Given the description of an element on the screen output the (x, y) to click on. 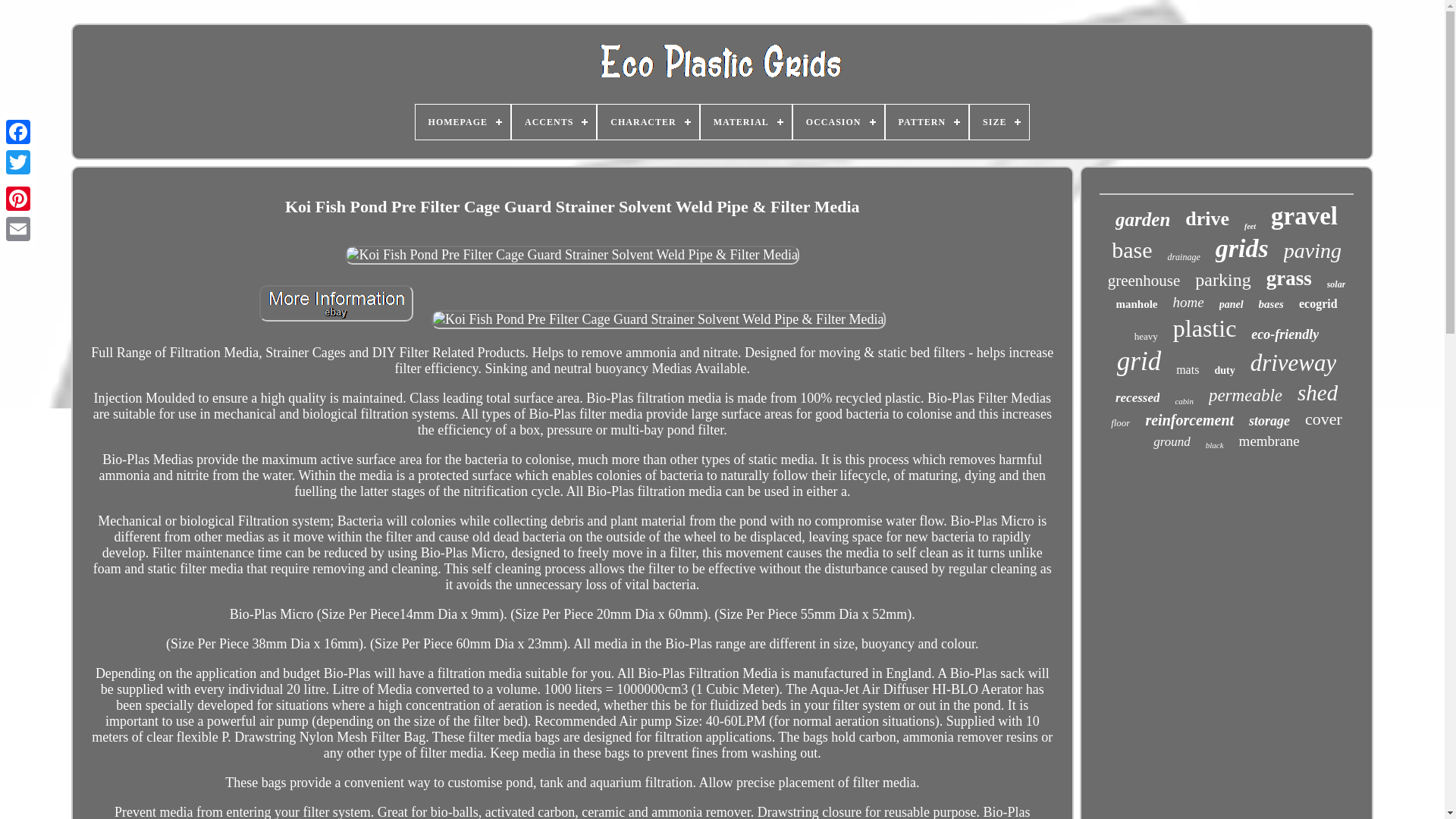
MATERIAL (746, 121)
Twitter (17, 162)
ACCENTS (553, 121)
CHARACTER (647, 121)
HOMEPAGE (462, 121)
